Given the description of an element on the screen output the (x, y) to click on. 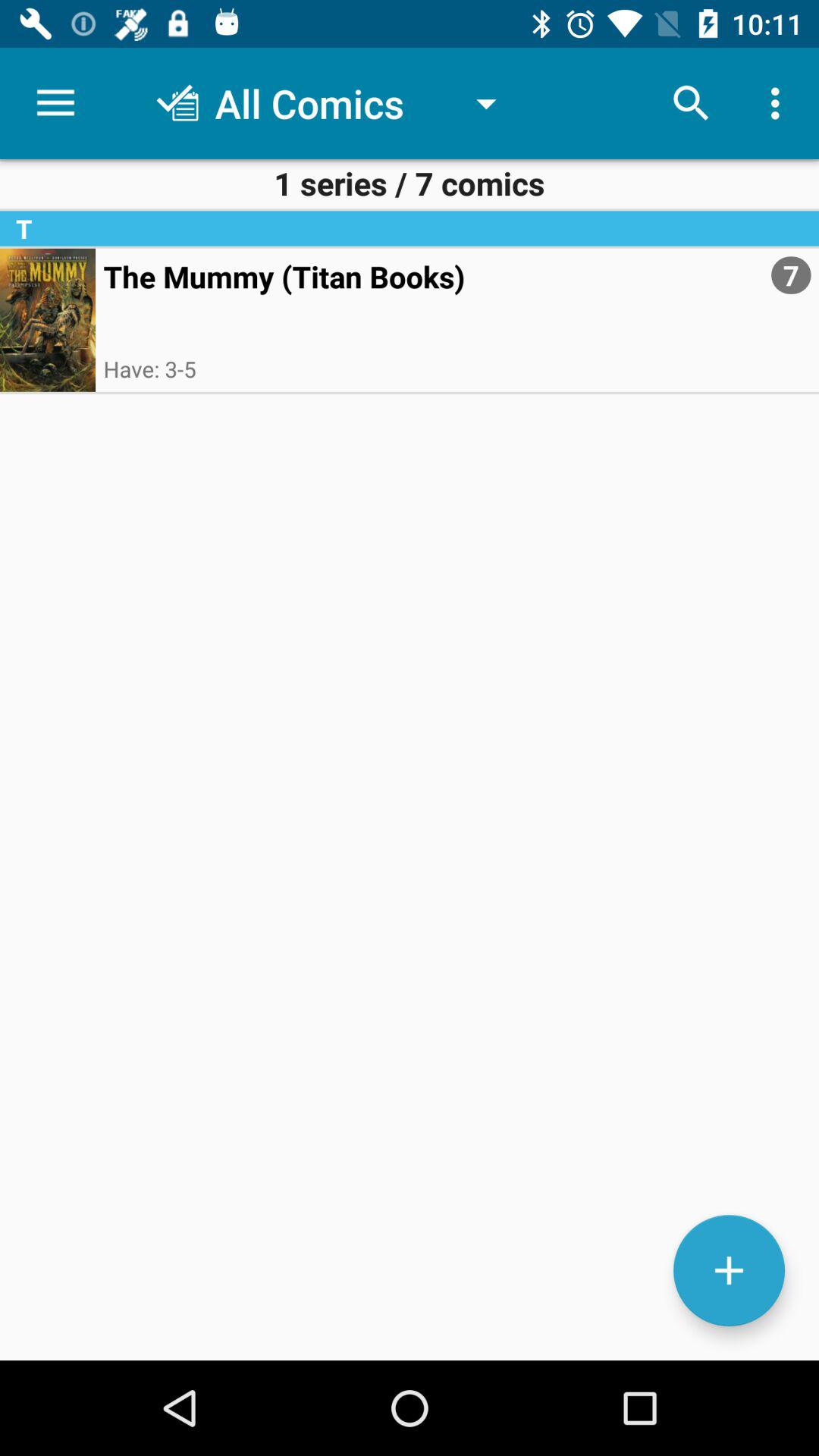
add a book to the list (728, 1270)
